Given the description of an element on the screen output the (x, y) to click on. 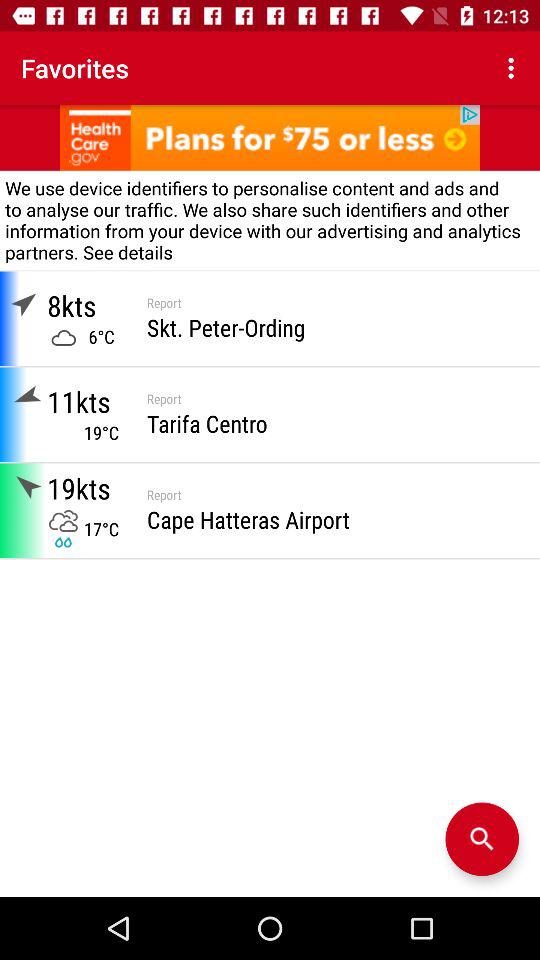
view advertisement (270, 137)
